Given the description of an element on the screen output the (x, y) to click on. 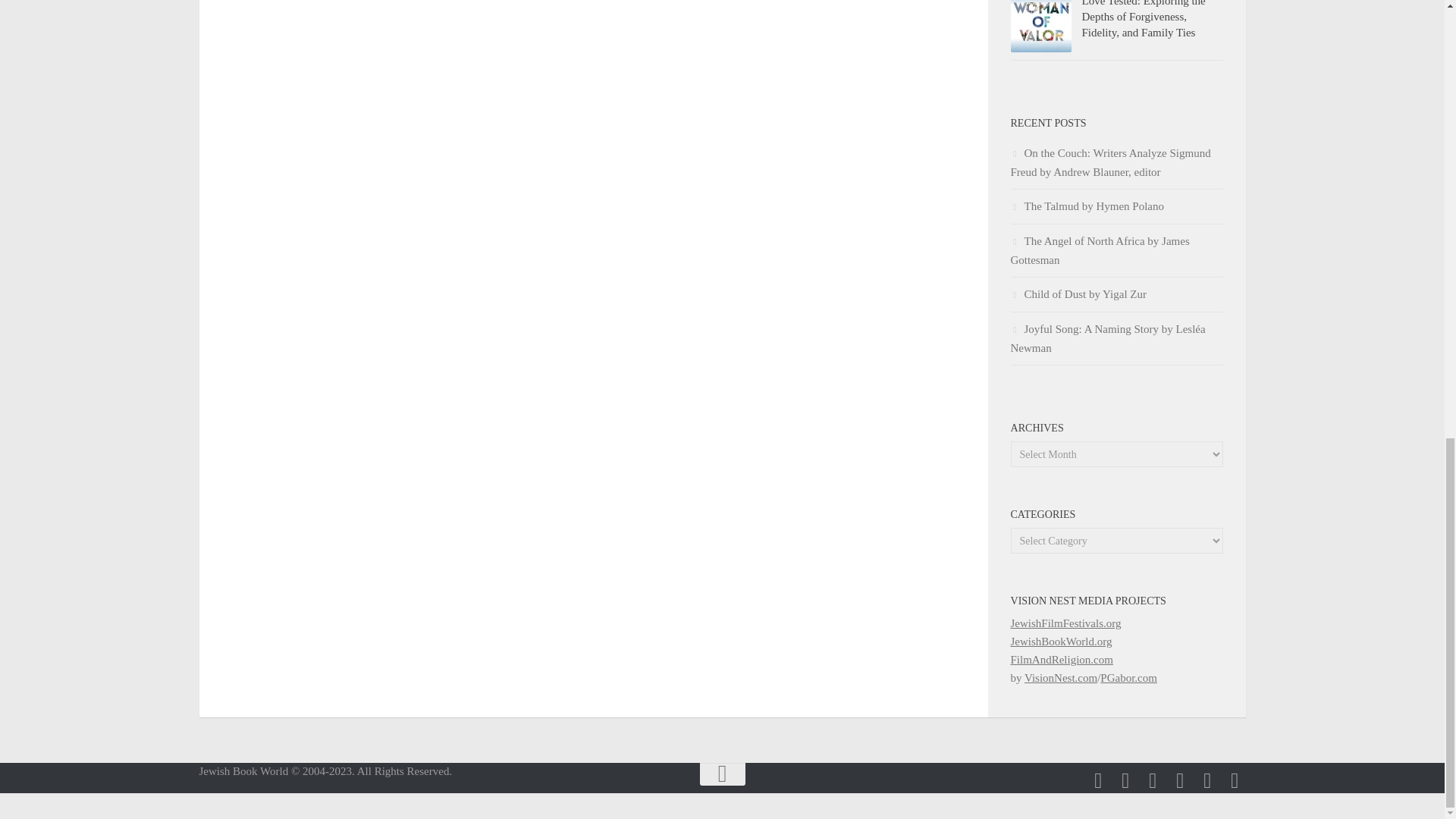
Follow us on Instagram (1097, 780)
Follow us on Facebook (1152, 780)
Follow us on Linkedin (1125, 780)
